Given the description of an element on the screen output the (x, y) to click on. 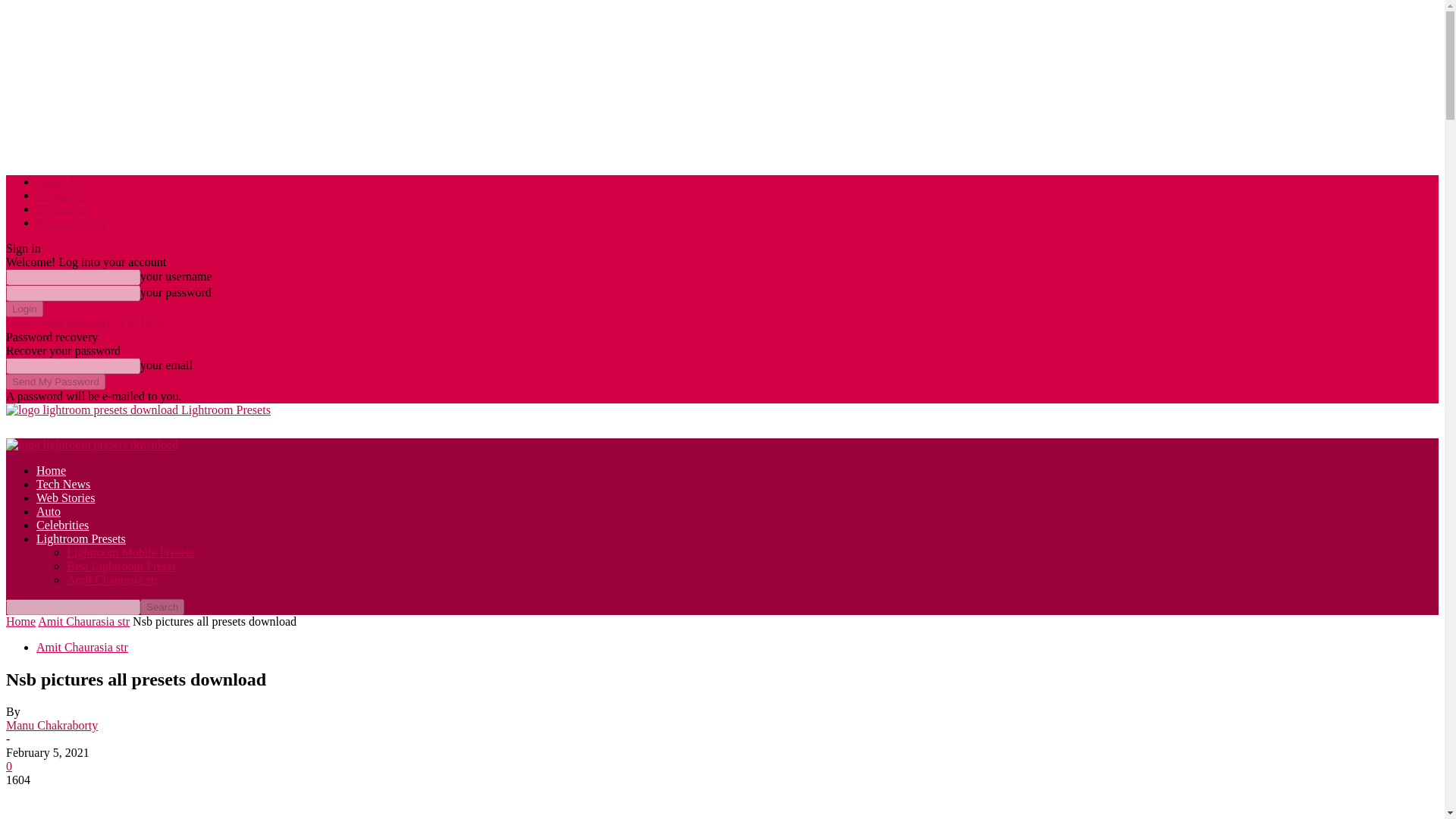
Tech News (63, 483)
Home (50, 470)
Forgot your password? Get help (83, 323)
Web Stories (65, 497)
View all posts in Amit Chaurasia str (83, 621)
Login (24, 308)
Search (161, 606)
Send My Password (54, 381)
About Us (59, 181)
Auto (48, 511)
